Given the description of an element on the screen output the (x, y) to click on. 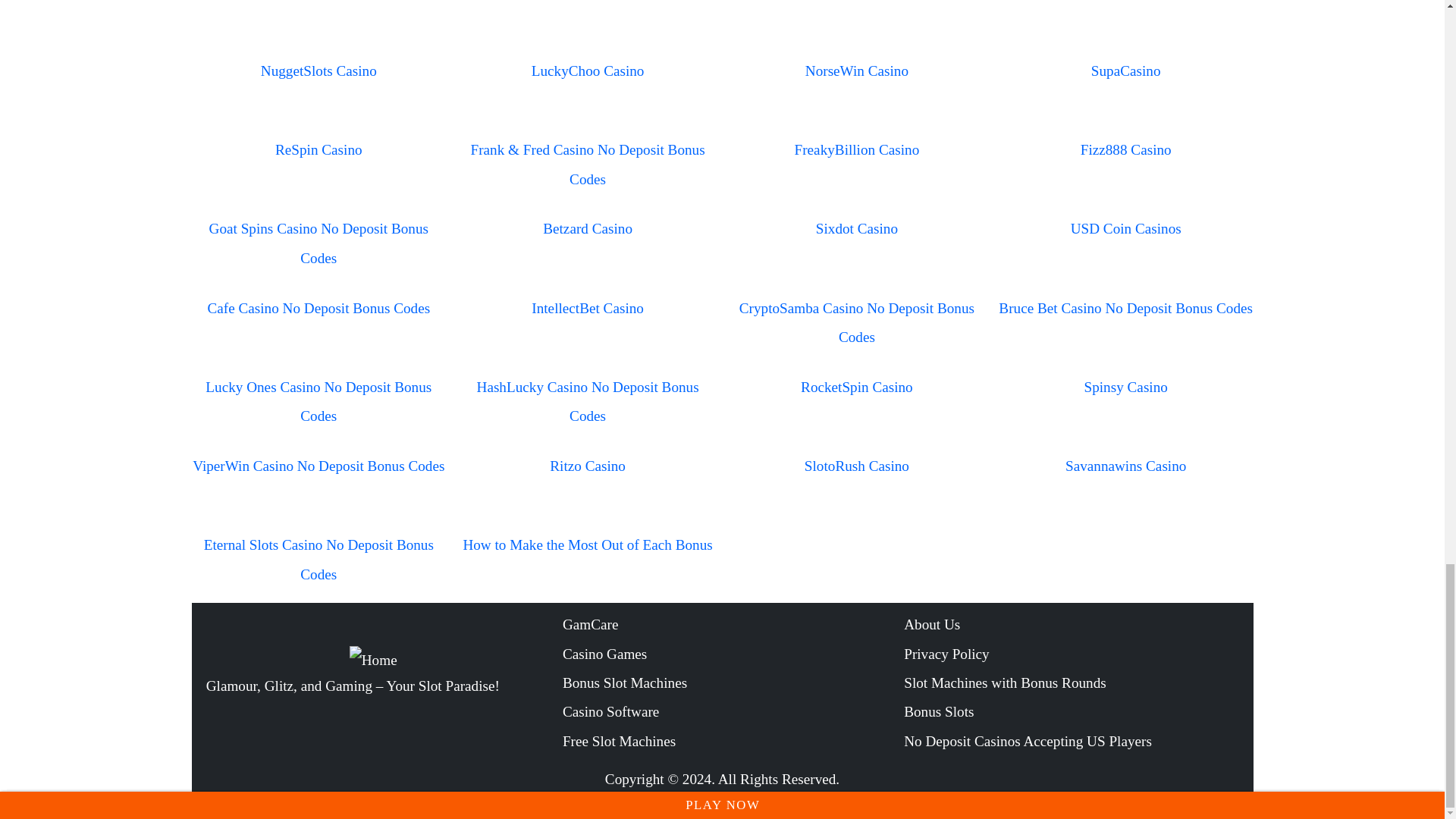
Goat Spins Casino No Deposit Bonus Codes (318, 242)
SupaCasino (1125, 70)
ReSpin Casino (318, 149)
IntellectBet Casino (587, 308)
Betzard Casino (587, 228)
Sixdot Casino (856, 228)
Fizz888 Casino (1126, 149)
FreakyBillion Casino (857, 149)
NuggetSlots Casino (318, 70)
Cafe Casino No Deposit Bonus Codes (317, 308)
